Given the description of an element on the screen output the (x, y) to click on. 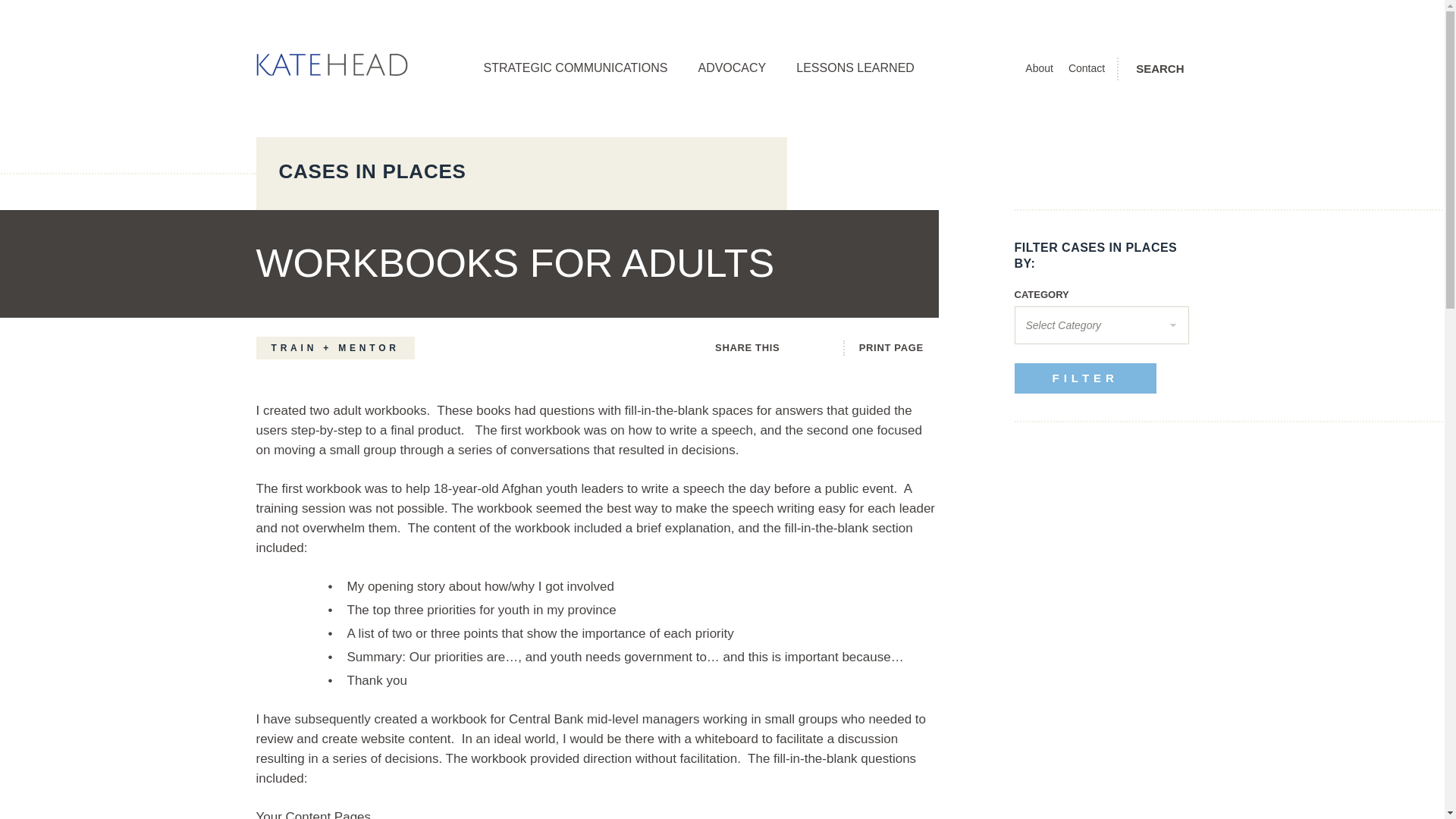
ADVOCACY (731, 68)
About (1038, 68)
SEARCH (1161, 68)
Contact (1086, 68)
LESSONS LEARNED (855, 68)
STRATEGIC COMMUNICATIONS (575, 68)
FILTER (1085, 378)
